Given the description of an element on the screen output the (x, y) to click on. 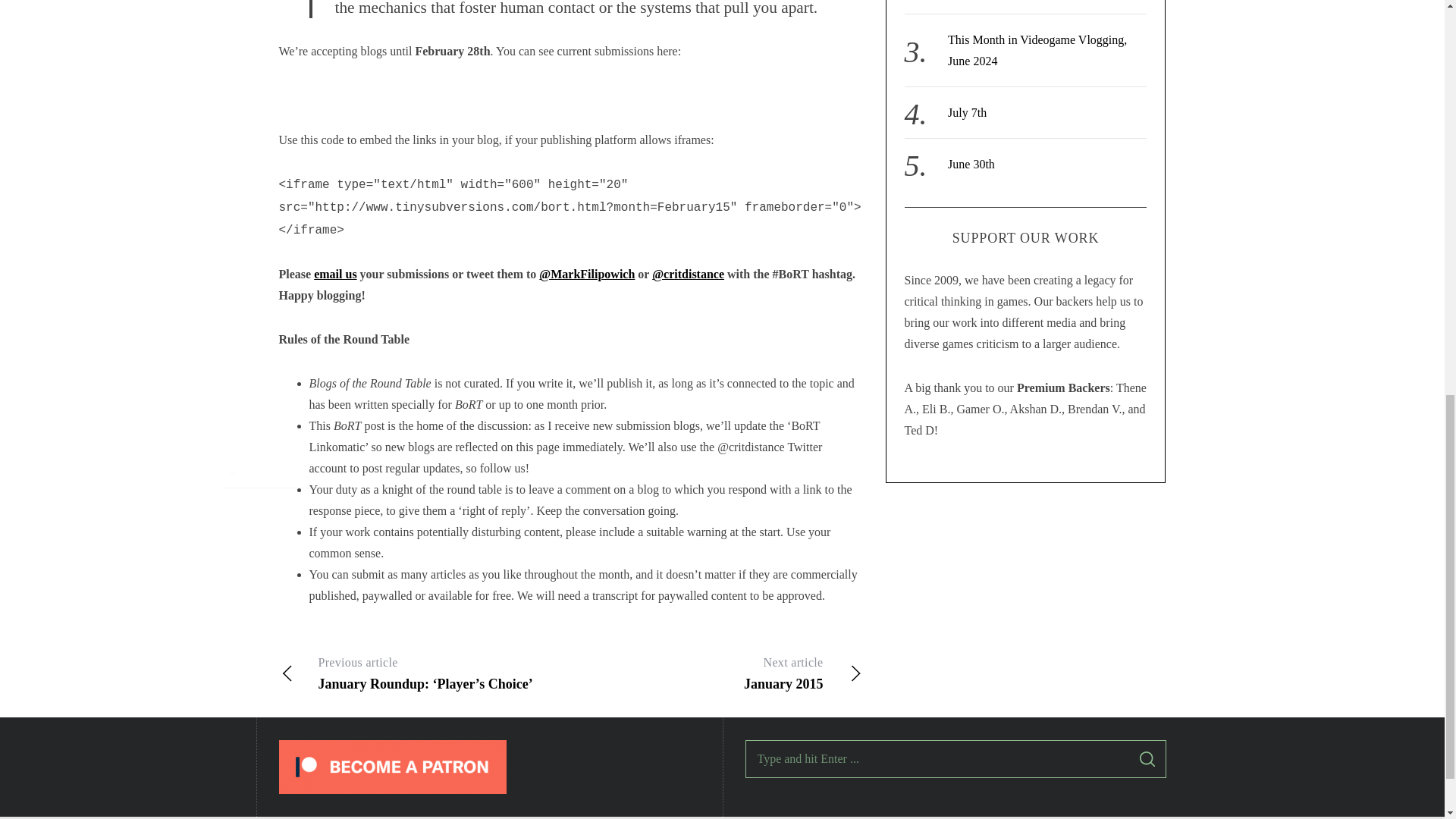
July 7th (715, 672)
SEARCH (967, 112)
This Month in Videogame Vlogging, June 2024 (1147, 759)
June 30th (1036, 50)
